Given the description of an element on the screen output the (x, y) to click on. 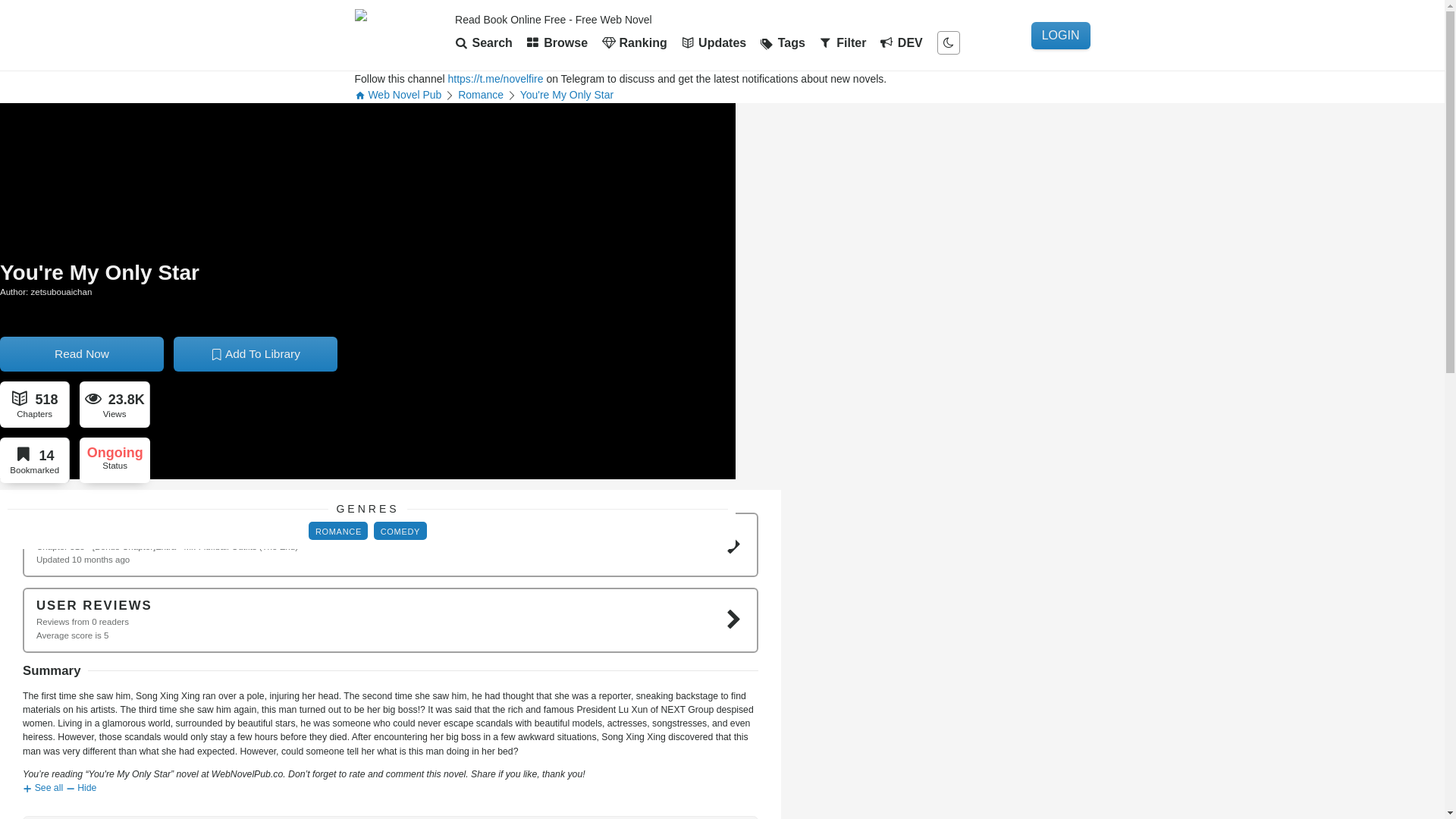
Comedy (715, 456)
Explore All Novel Tags (785, 42)
Development Announcements (903, 42)
READ NOW (689, 503)
COMEDY (715, 456)
Search Novels with Advanced Filtering Function (845, 42)
Read You're My Only Star Novel Online Free (689, 503)
LOGIN (1060, 34)
Filter (845, 42)
